Given the description of an element on the screen output the (x, y) to click on. 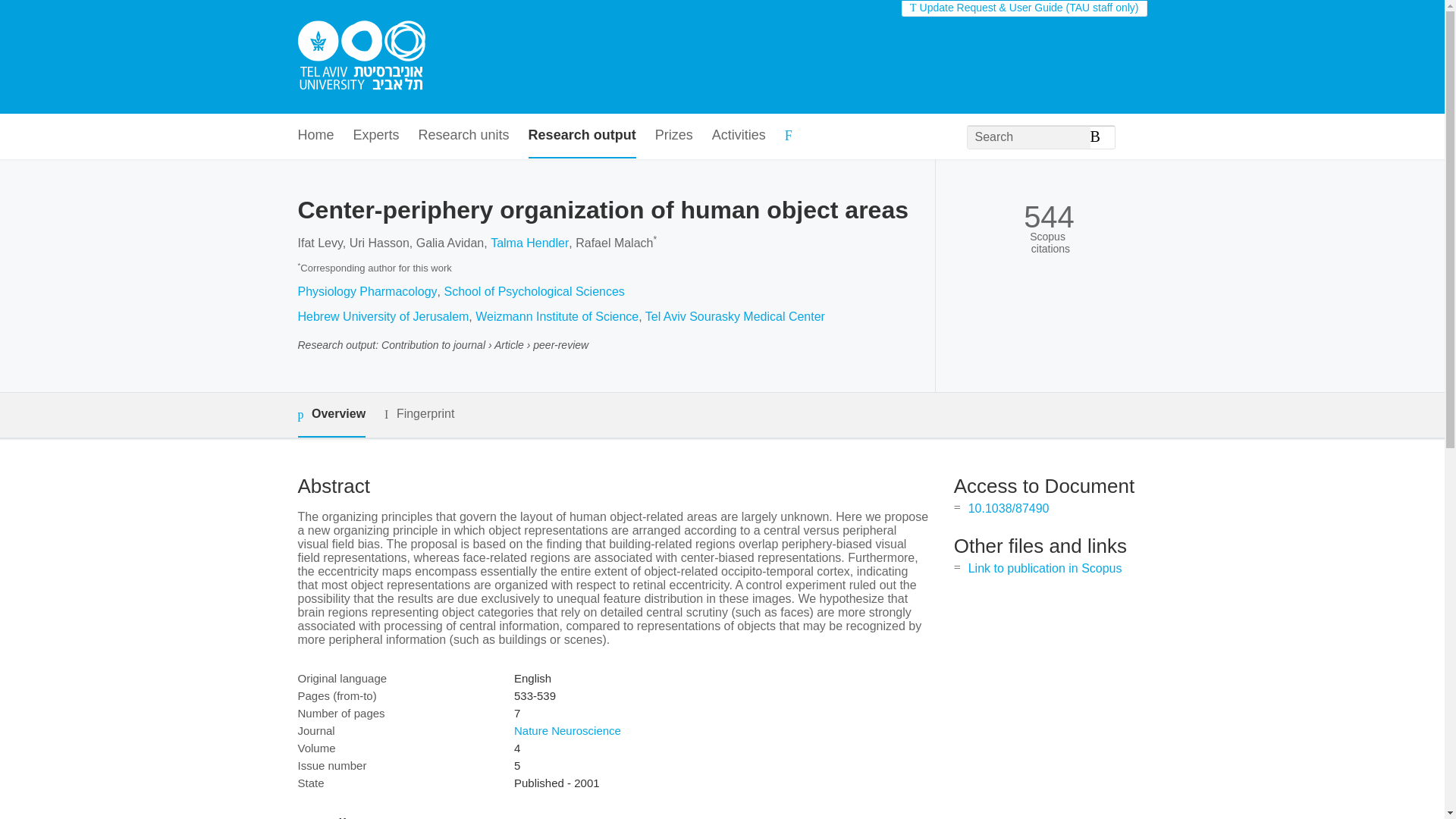
Nature Neuroscience (567, 730)
Experts (375, 135)
Activities (738, 135)
Research output (582, 135)
Overview (331, 415)
Tel Aviv Sourasky Medical Center (735, 316)
Fingerprint (419, 414)
Tel Aviv University Home (361, 56)
Weizmann Institute of Science (557, 316)
School of Psychological Sciences (534, 291)
